Given the description of an element on the screen output the (x, y) to click on. 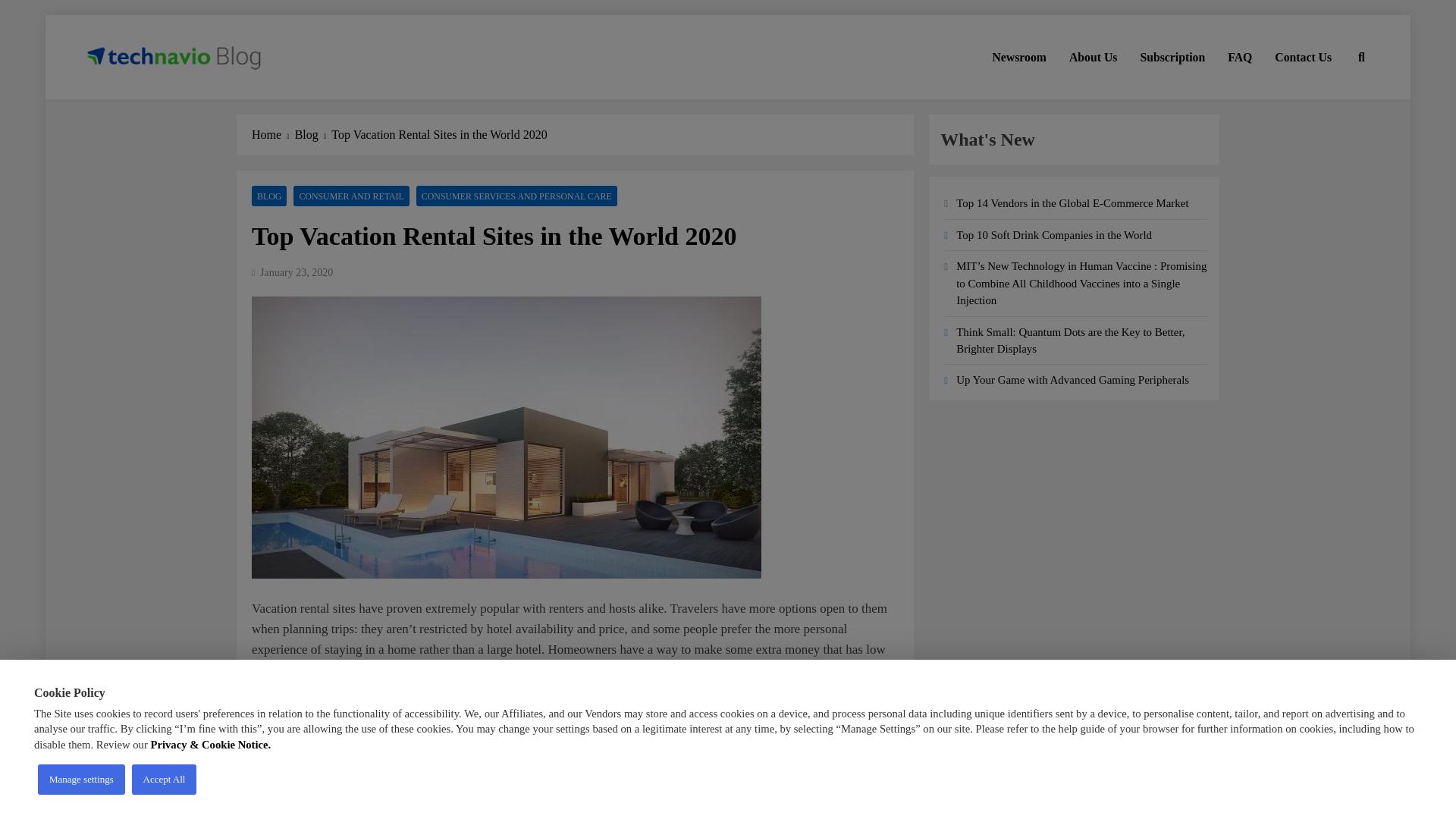
CONSUMER AND RETAIL (351, 195)
Home (273, 135)
Contact Us (1302, 56)
FAQ (1239, 56)
January 23, 2020 (296, 272)
Blog (313, 135)
CONSUMER SERVICES AND PERSONAL CARE (516, 195)
Technavio (138, 100)
Top 10 Soft Drink Companies in the World (1053, 234)
